Given the description of an element on the screen output the (x, y) to click on. 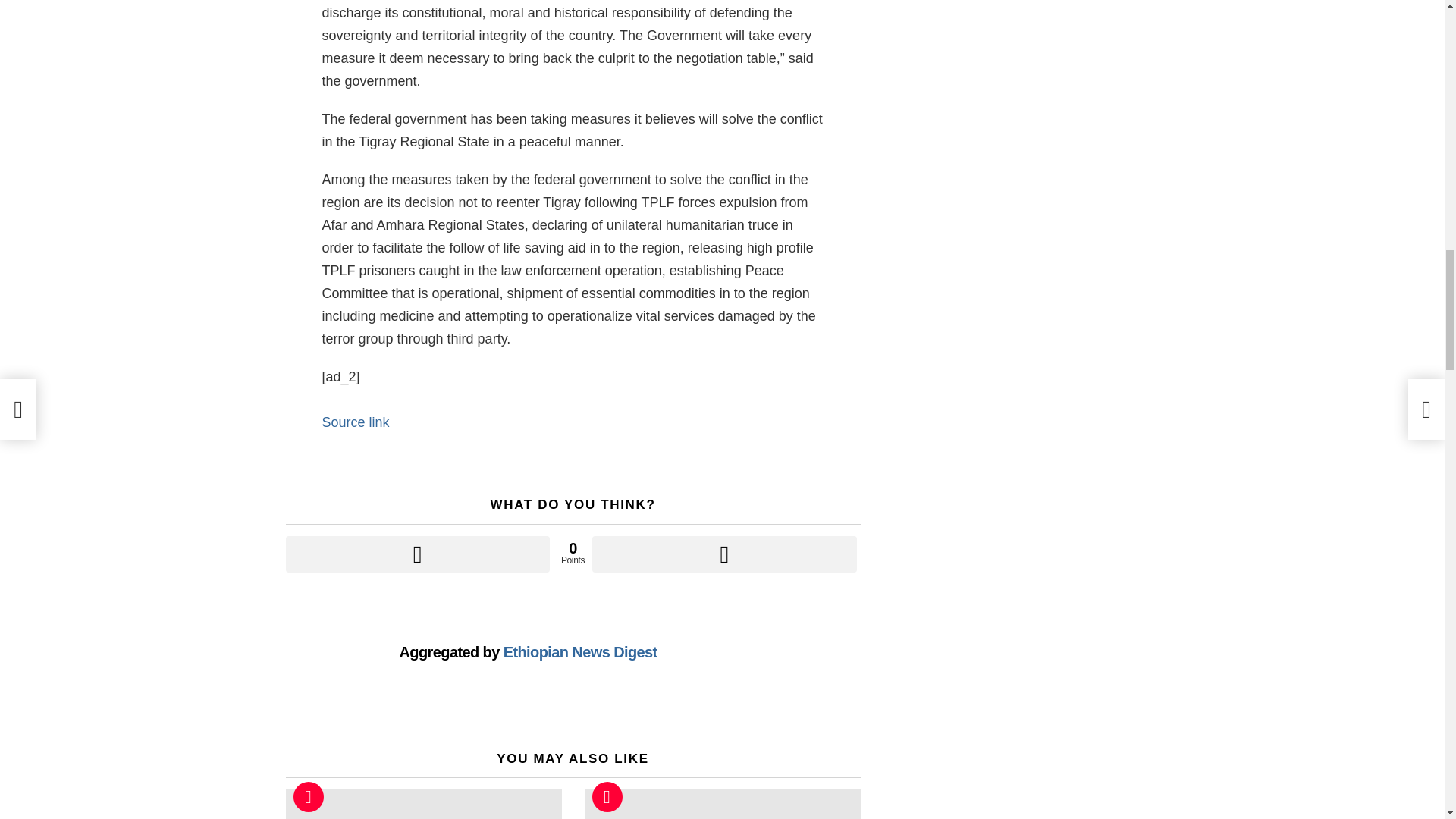
Upvote (416, 554)
Hot (606, 797)
Source link (354, 421)
Ethiopian News Digest (580, 651)
Downvote (724, 554)
Hot (606, 797)
Hot (307, 797)
Upvote (416, 554)
Hot (307, 797)
Downvote (724, 554)
